Given the description of an element on the screen output the (x, y) to click on. 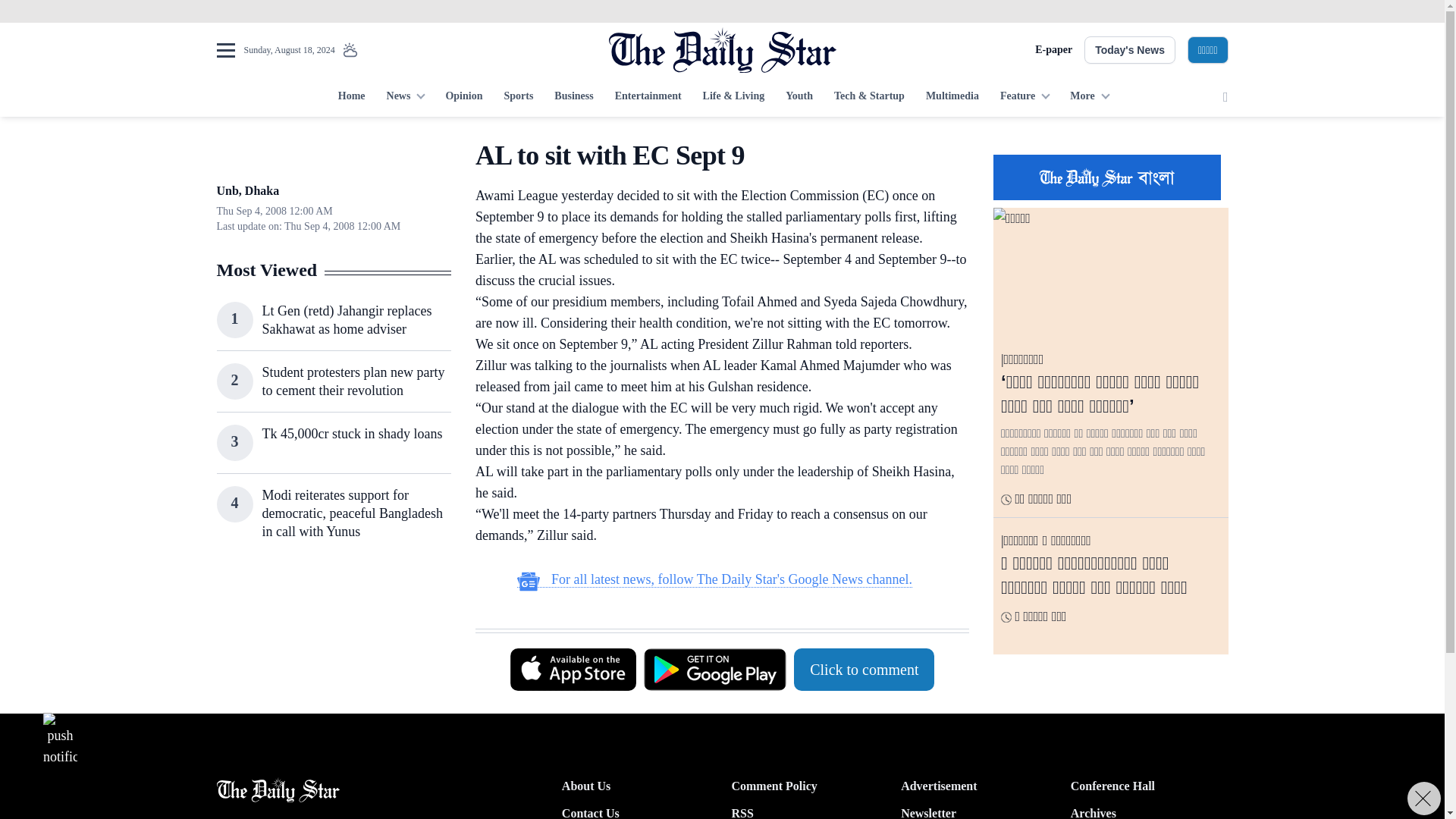
News (405, 96)
Multimedia (952, 96)
Sports (518, 96)
Home (351, 96)
Business (573, 96)
Feature (1024, 96)
Today's News (1129, 49)
Youth (799, 96)
E-paper (1053, 49)
